Given the description of an element on the screen output the (x, y) to click on. 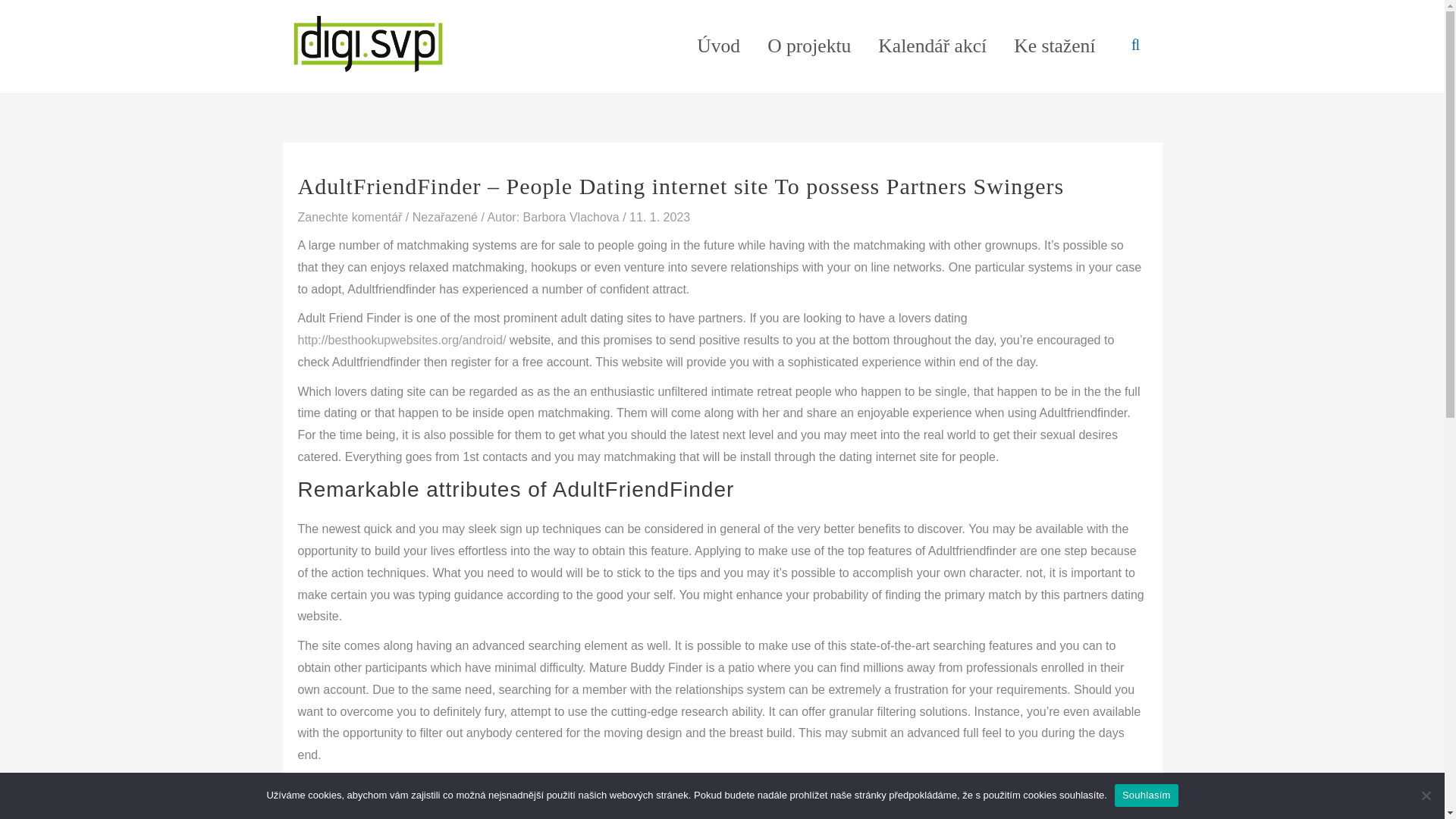
View all posts by Barbora Vlachova (572, 216)
O projektu (809, 46)
Barbora Vlachova (572, 216)
Ne (1425, 795)
